Given the description of an element on the screen output the (x, y) to click on. 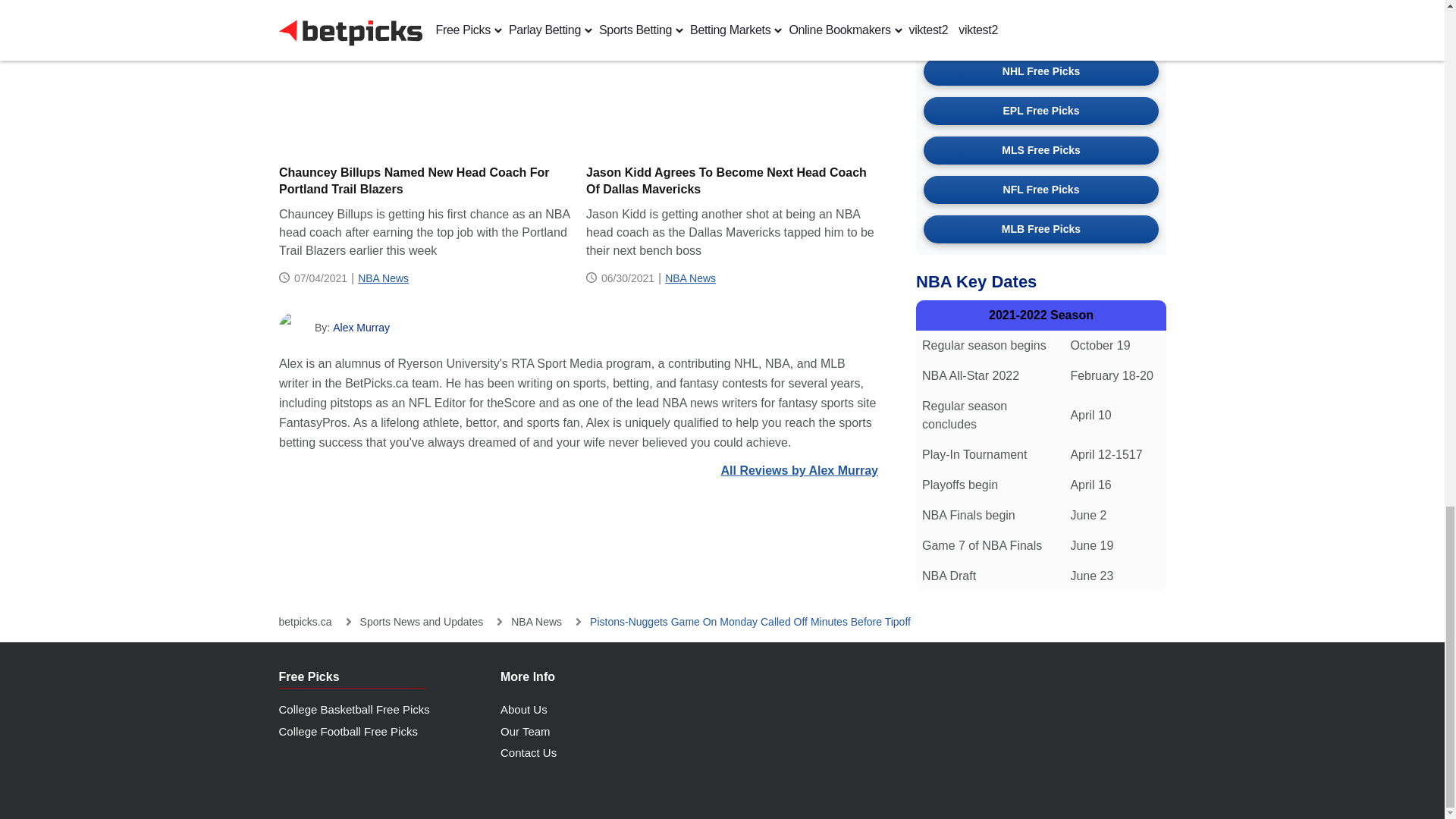
NBA 2020-21 (731, 76)
NBA 2020-21 (424, 76)
